Given the description of an element on the screen output the (x, y) to click on. 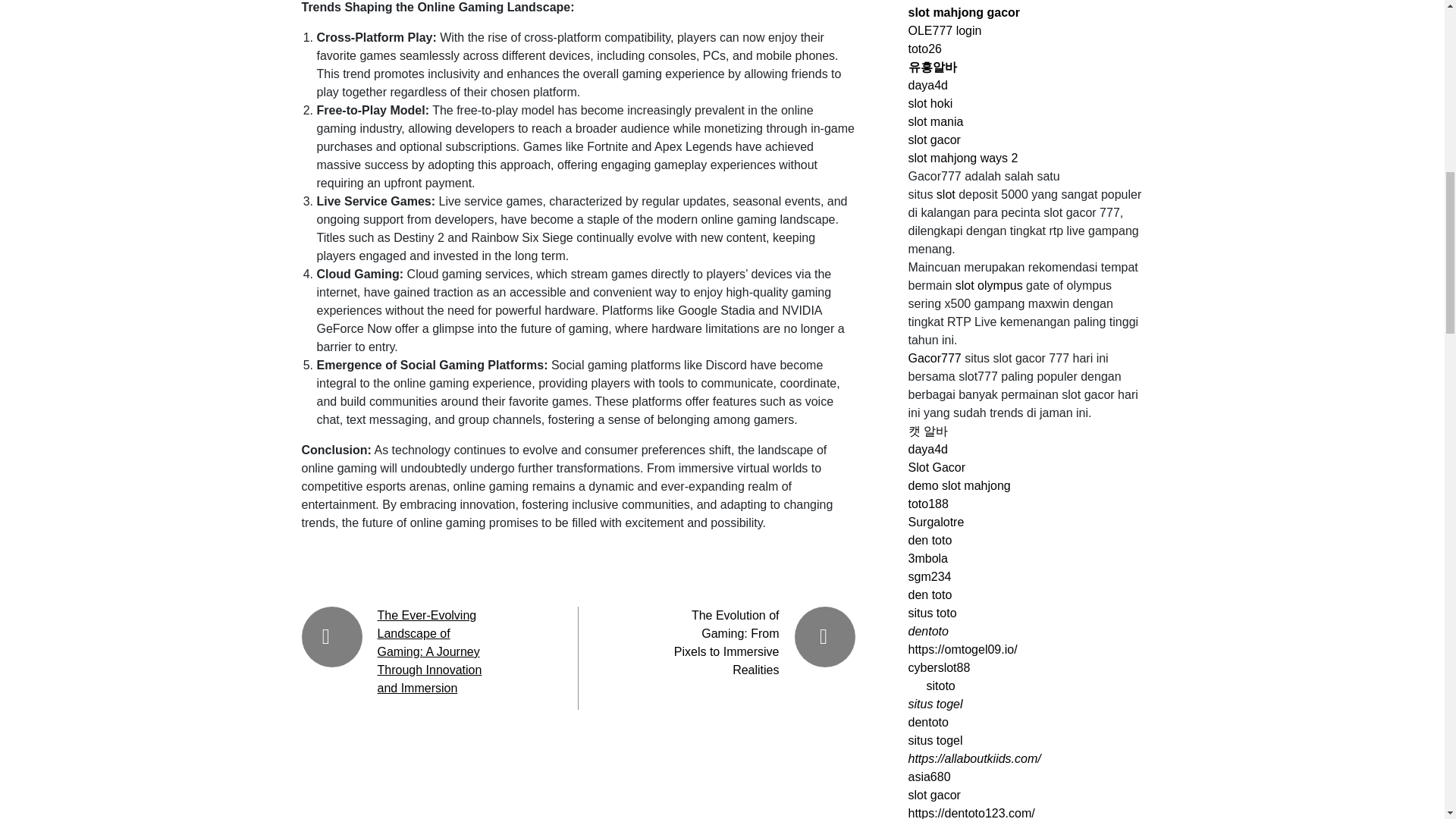
The Evolution of Gaming: From Pixels to Immersive Realities (726, 642)
slot mahjong gacor (964, 11)
